Given the description of an element on the screen output the (x, y) to click on. 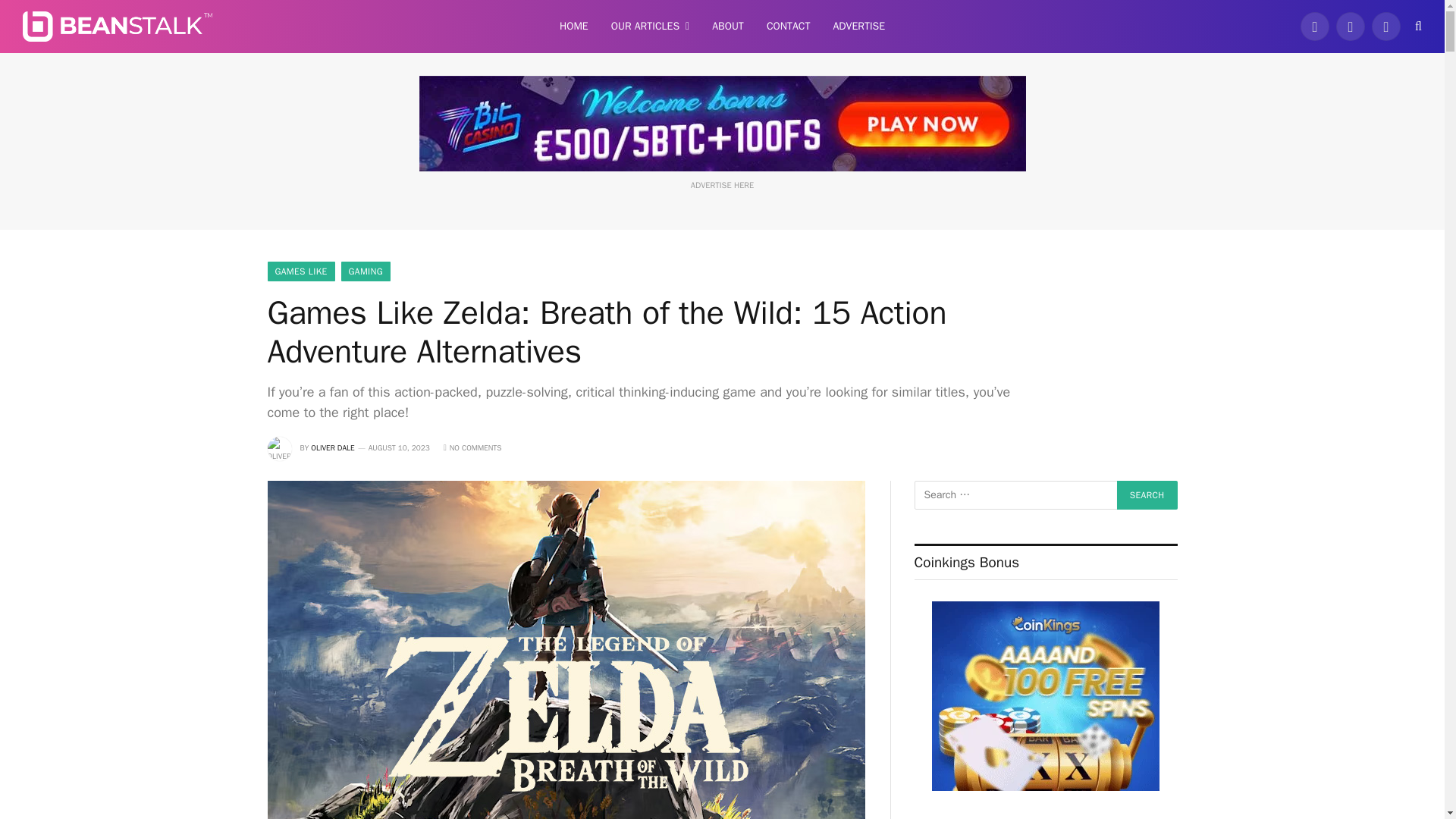
Beanstalk (117, 26)
Search (1146, 494)
OUR ARTICLES (649, 26)
Search (1146, 494)
HOME (573, 26)
